Given the description of an element on the screen output the (x, y) to click on. 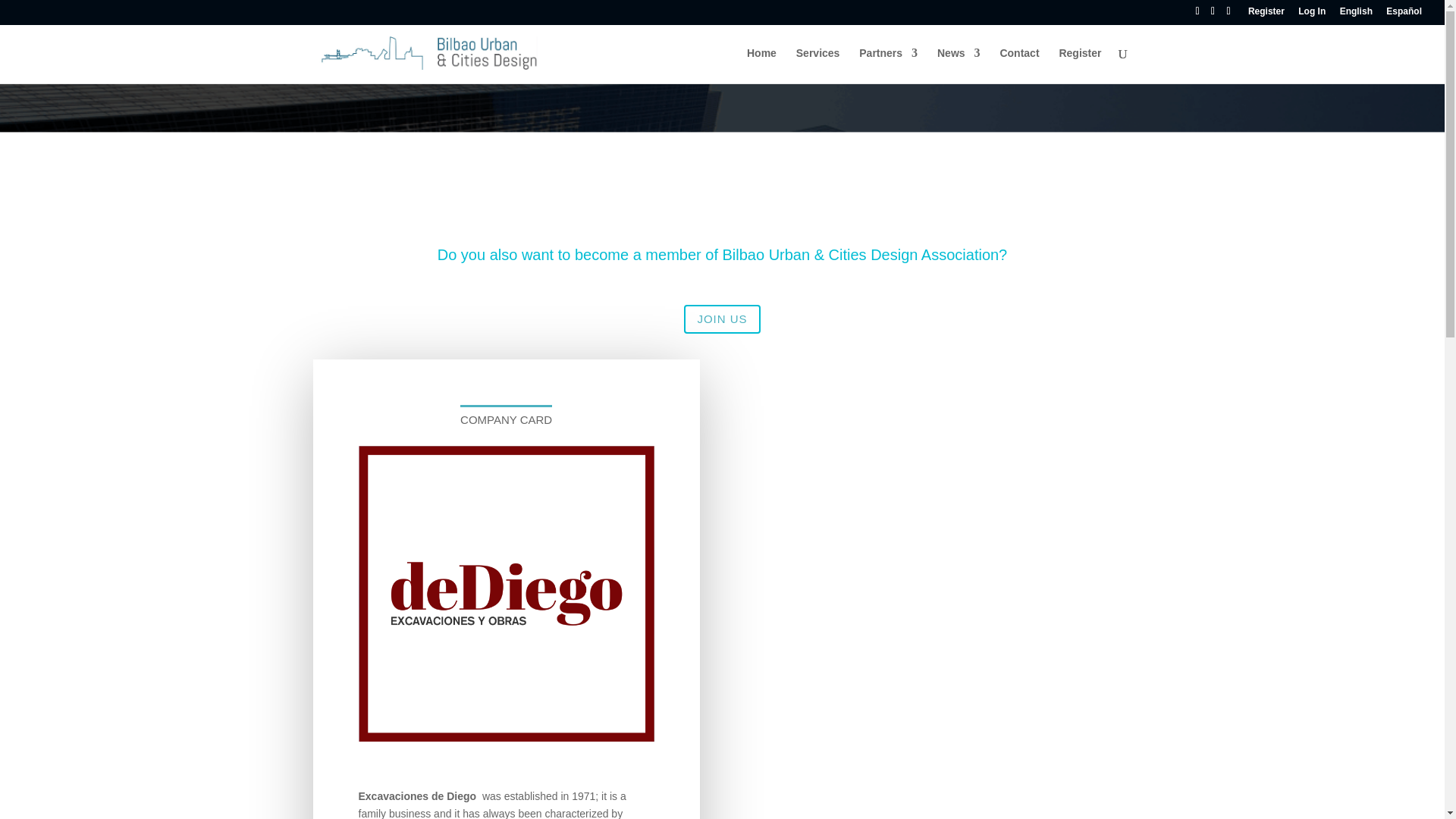
Contact (1018, 65)
Register (1079, 65)
News (958, 65)
Partners (888, 65)
Log In (1311, 14)
Services (818, 65)
JOIN US (722, 319)
English (1356, 14)
Register (1265, 14)
